Given the description of an element on the screen output the (x, y) to click on. 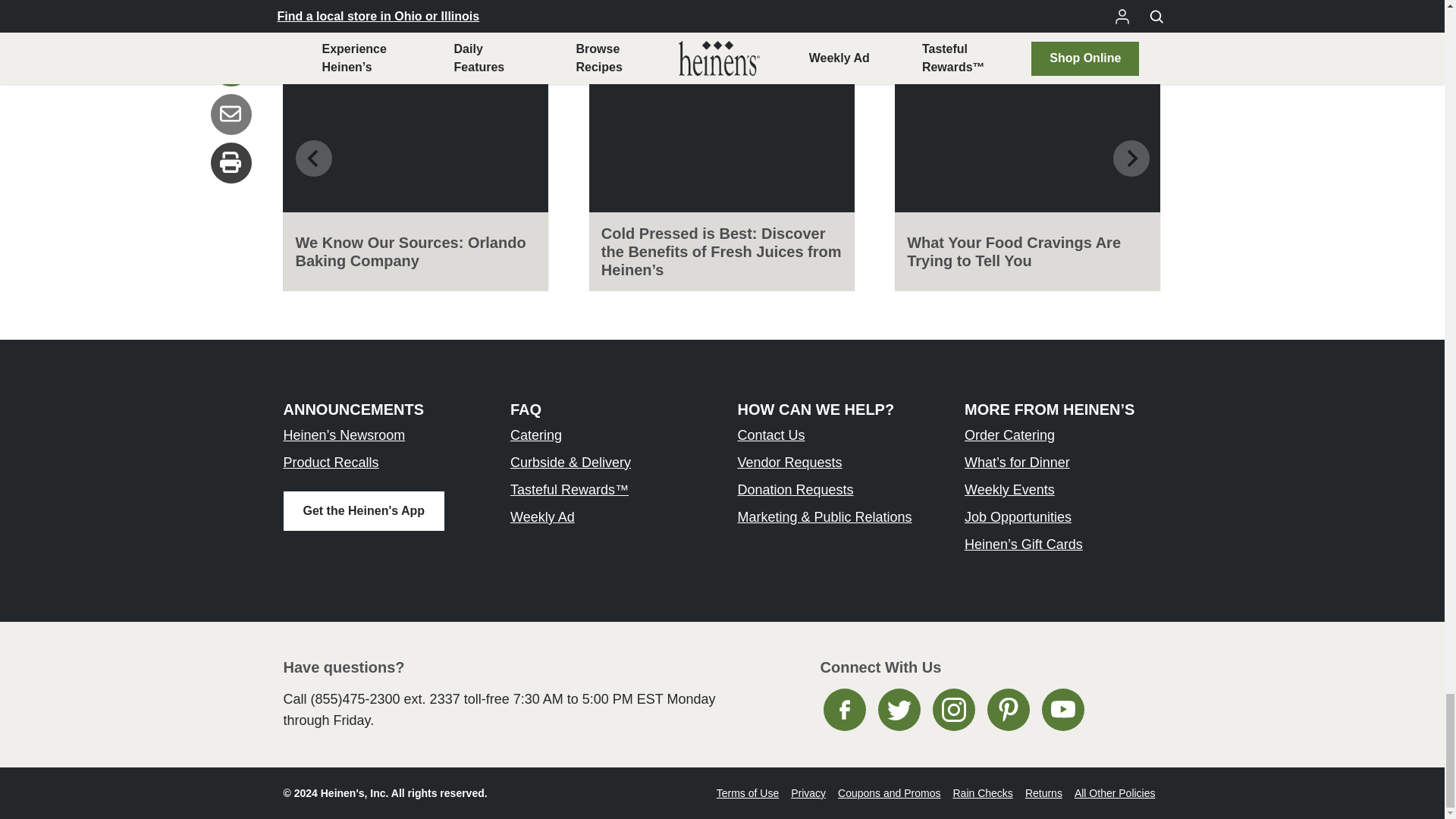
Connect with Heinen's on Pinterest (1008, 709)
Connect with Heinen's on Facebook (845, 709)
Connect with Heinen's on YouTube (1063, 709)
Connect with Heinen's on Instagram (954, 709)
Connect with Heinen's on Twitter (898, 709)
